Given the description of an element on the screen output the (x, y) to click on. 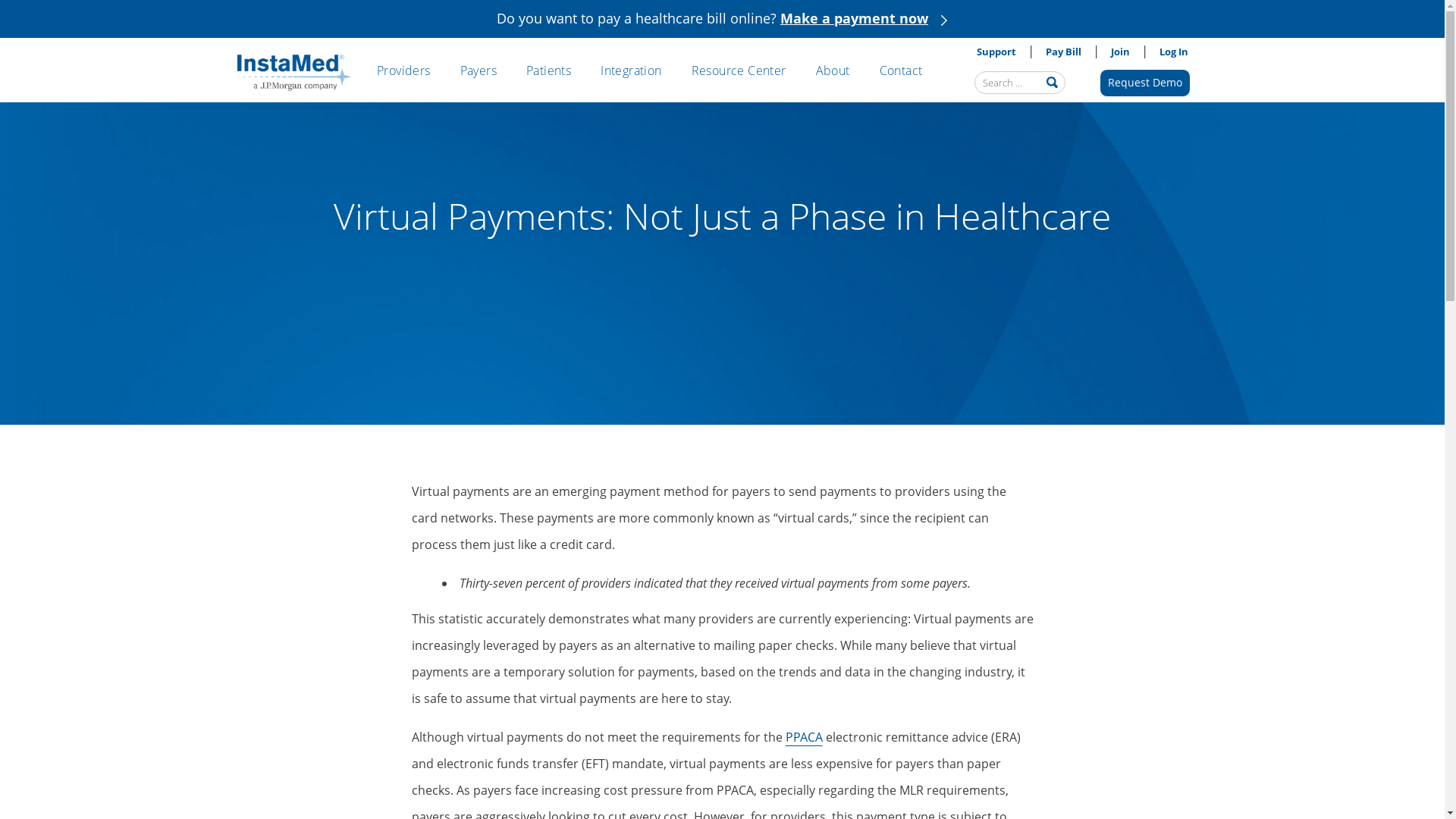
About (832, 70)
Resource Center (738, 70)
Integration (631, 70)
Make a payment now (854, 18)
Payers (478, 70)
Patients (548, 70)
Providers (403, 70)
InstaMed (292, 73)
